Given the description of an element on the screen output the (x, y) to click on. 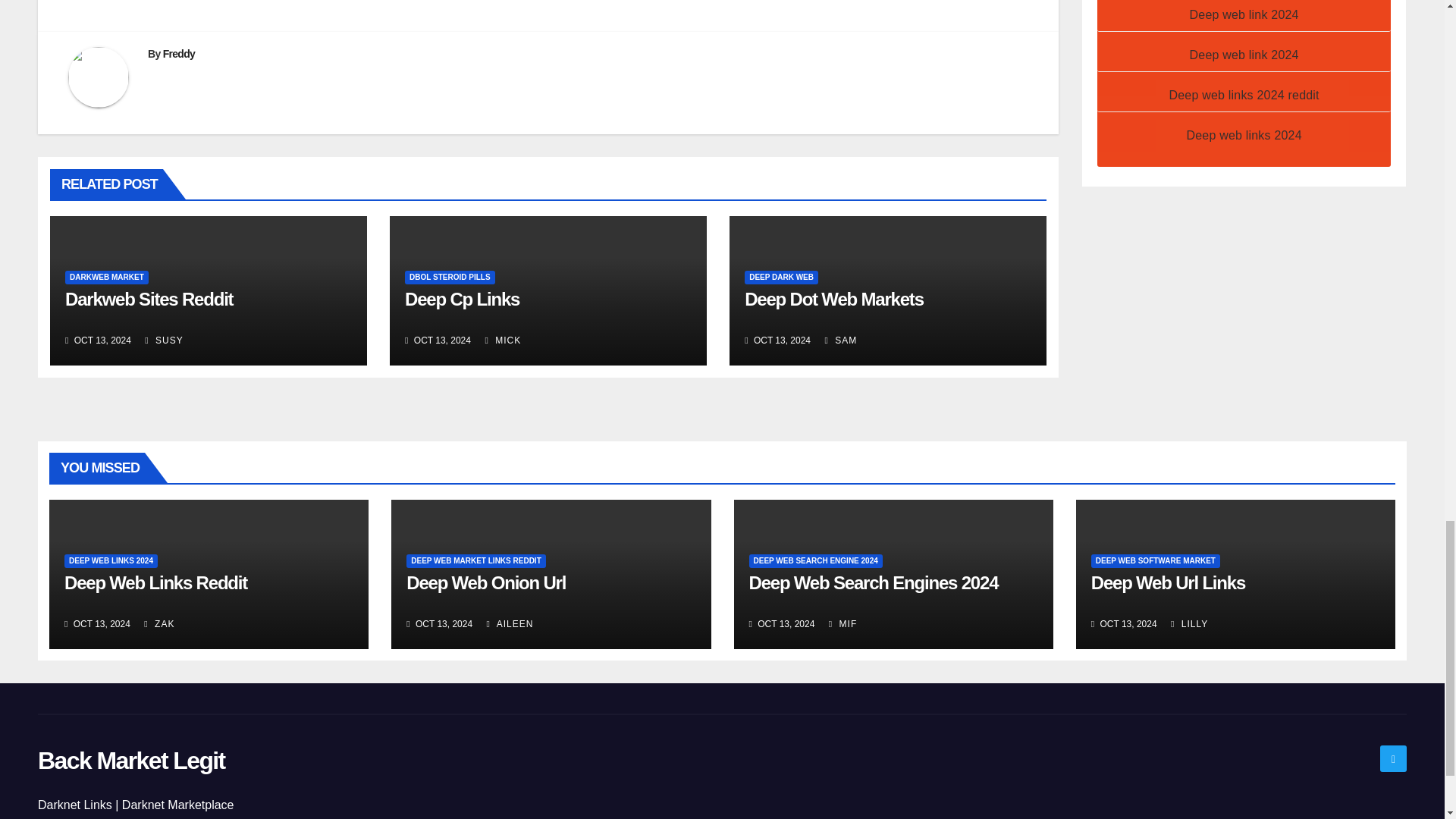
Permalink to: Decentralized Darknet Market (461, 299)
Permalink to: Deep Dot Web Links (833, 299)
Deep web links 2024 reddit (1244, 94)
Deep web link 2024 (1243, 14)
Permalink to: Darkweb Markets (148, 299)
Deep web link 2024 (1243, 54)
